Given the description of an element on the screen output the (x, y) to click on. 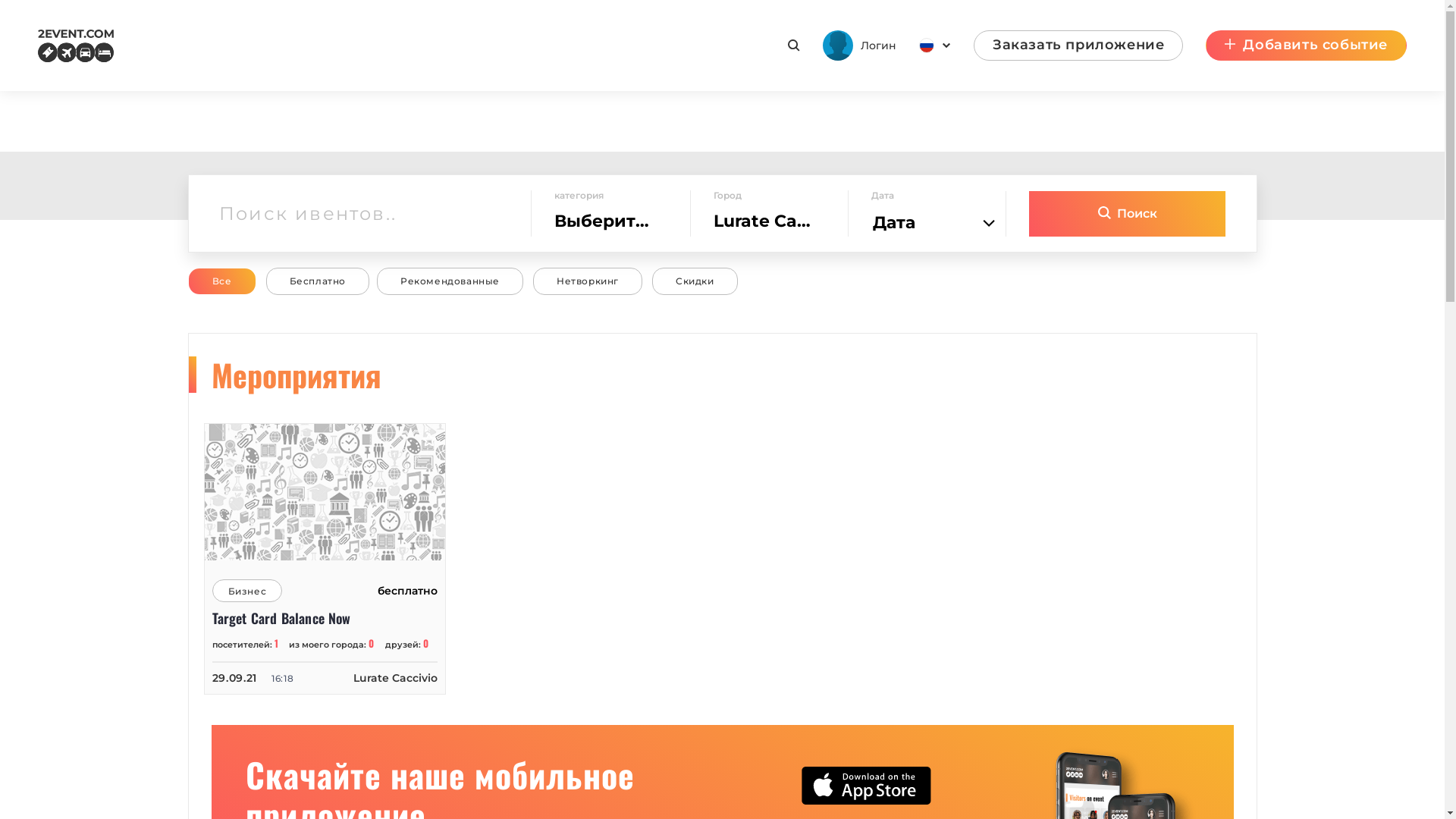
Lurate Caccivio Element type: text (395, 677)
Target Card Balance Now Element type: text (325, 618)
